Given the description of an element on the screen output the (x, y) to click on. 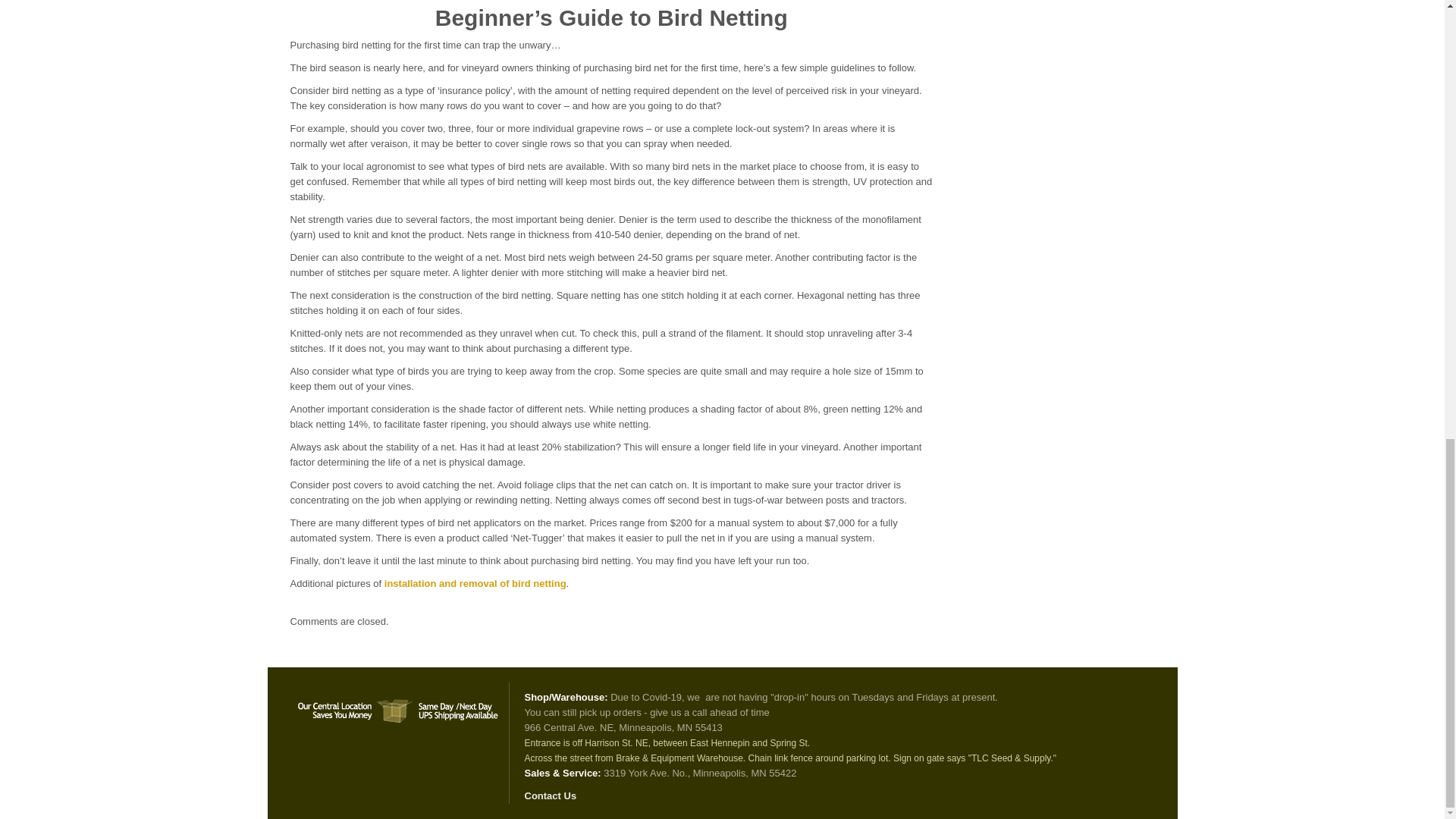
MDTgrow.com (398, 702)
Installation and Removal of Woven Bird Netting (475, 583)
